Given the description of an element on the screen output the (x, y) to click on. 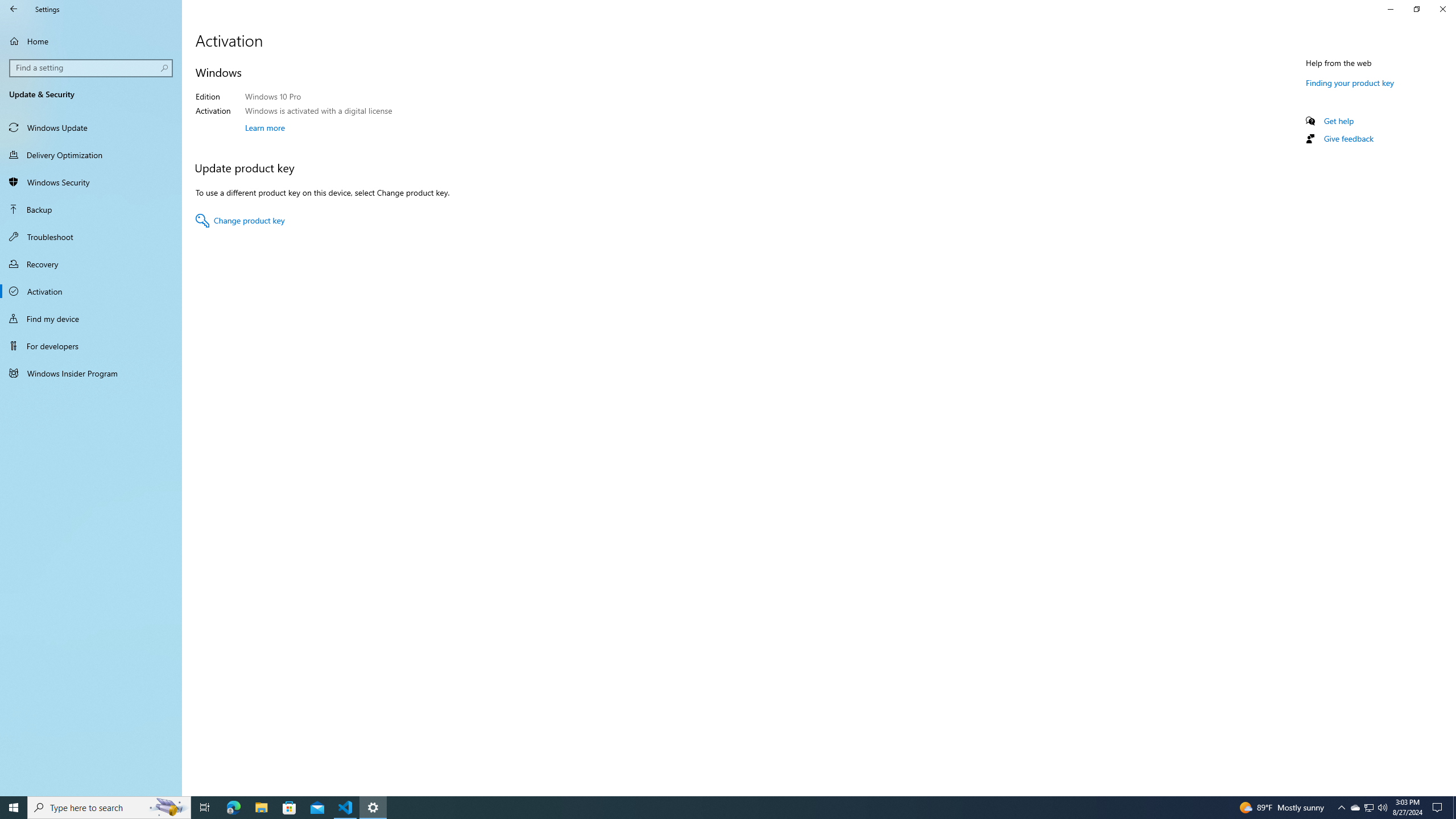
Running applications (717, 807)
Finding your product key (1349, 82)
Task View (204, 807)
Action Center, No new notifications (1439, 807)
Delivery Optimization (91, 154)
Notification Chevron (1341, 807)
Type here to search (108, 807)
Windows Insider Program (91, 372)
Visual Studio Code - 1 running window (345, 807)
File Explorer (261, 807)
